Given the description of an element on the screen output the (x, y) to click on. 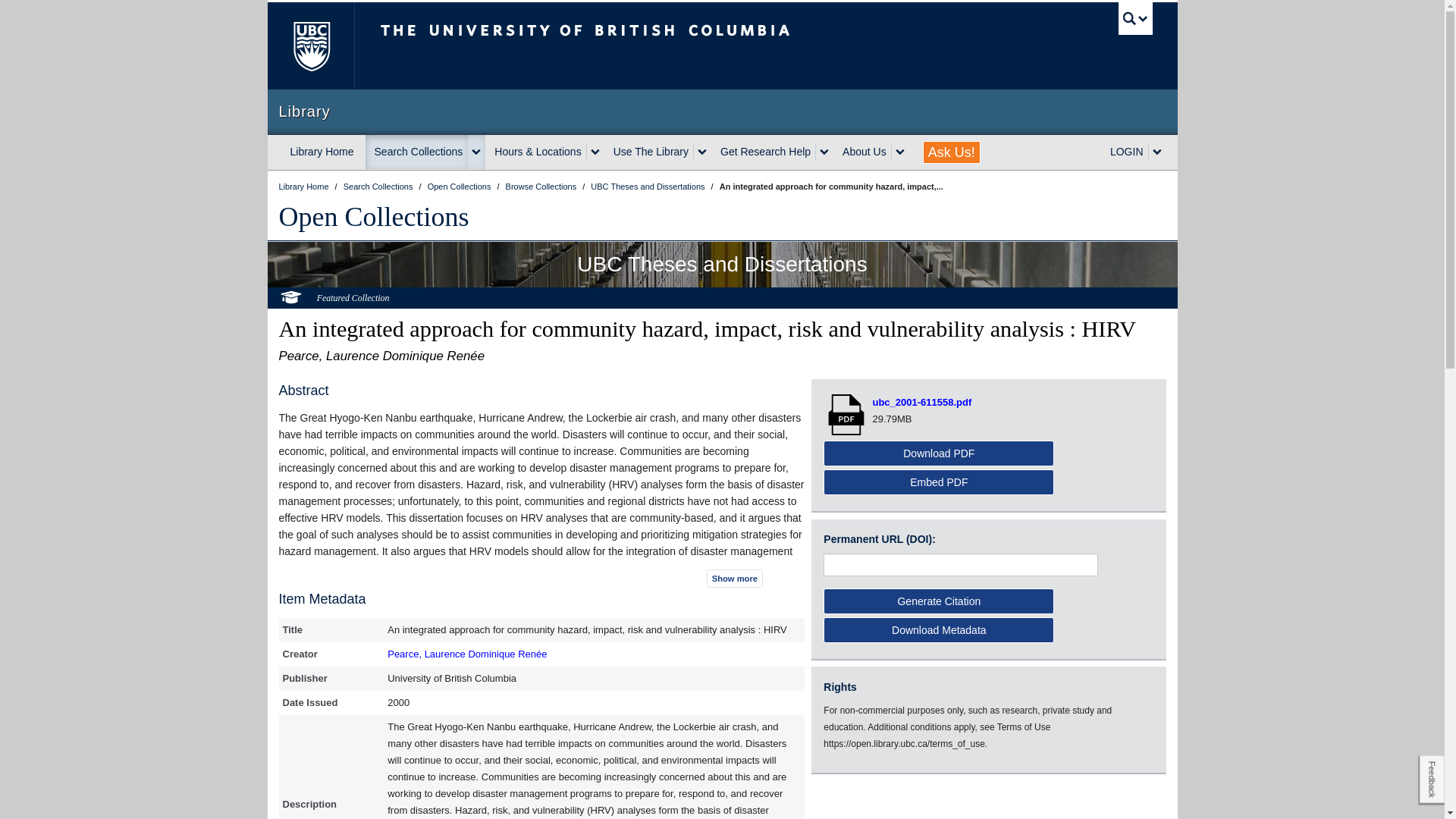
The University of British Columbia (309, 45)
Search Collections (416, 151)
Library (722, 111)
open file (848, 414)
Search Collections (378, 185)
The University of British Columbia (635, 45)
UBC Search (1135, 18)
Library Home (322, 151)
Open Collections (460, 185)
Open Collections (373, 216)
UBC Library (305, 185)
Browse Collections (542, 185)
